Given the description of an element on the screen output the (x, y) to click on. 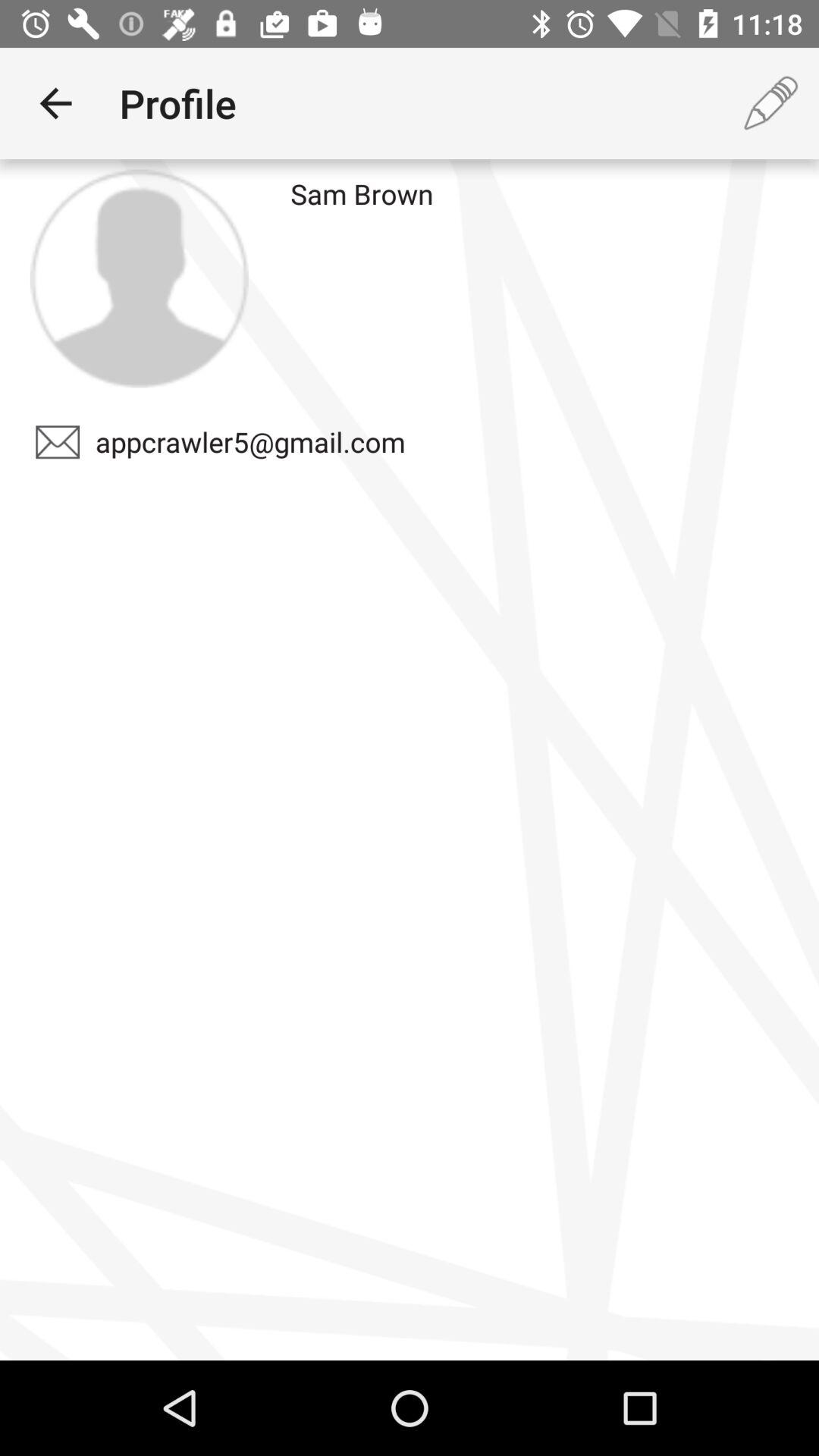
profile image (139, 278)
